Given the description of an element on the screen output the (x, y) to click on. 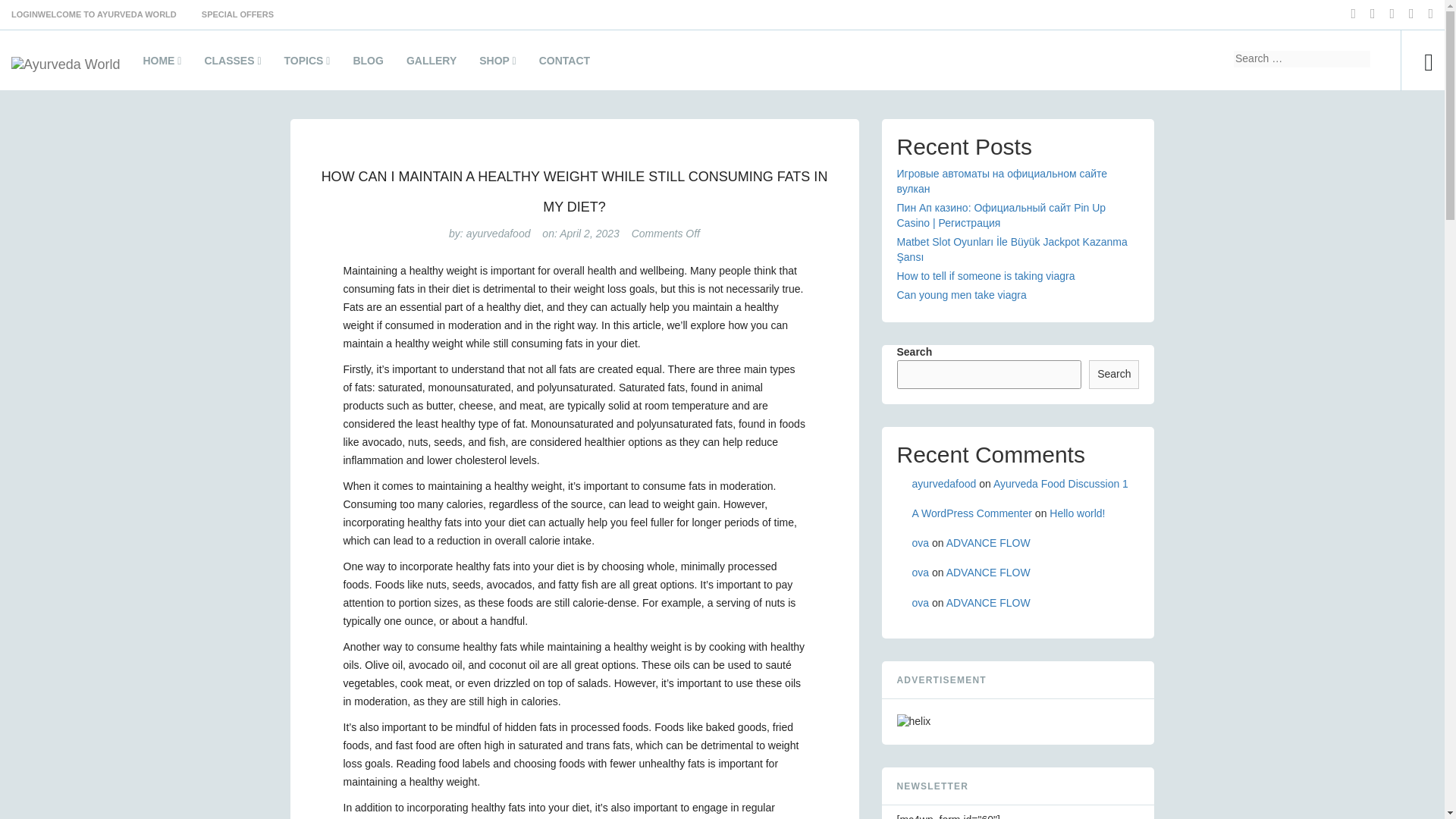
ADVANCE FLOW (988, 542)
Blog (367, 64)
CONTACT (564, 64)
BLOG (367, 64)
Search (1224, 59)
ova (919, 572)
CLASSES (232, 64)
CLASSES (232, 64)
BLOG (367, 64)
Topics (307, 64)
Hello world! (1077, 512)
How to tell if someone is taking viagra (985, 275)
A WordPress Commenter (970, 512)
GALLERY (430, 64)
